Given the description of an element on the screen output the (x, y) to click on. 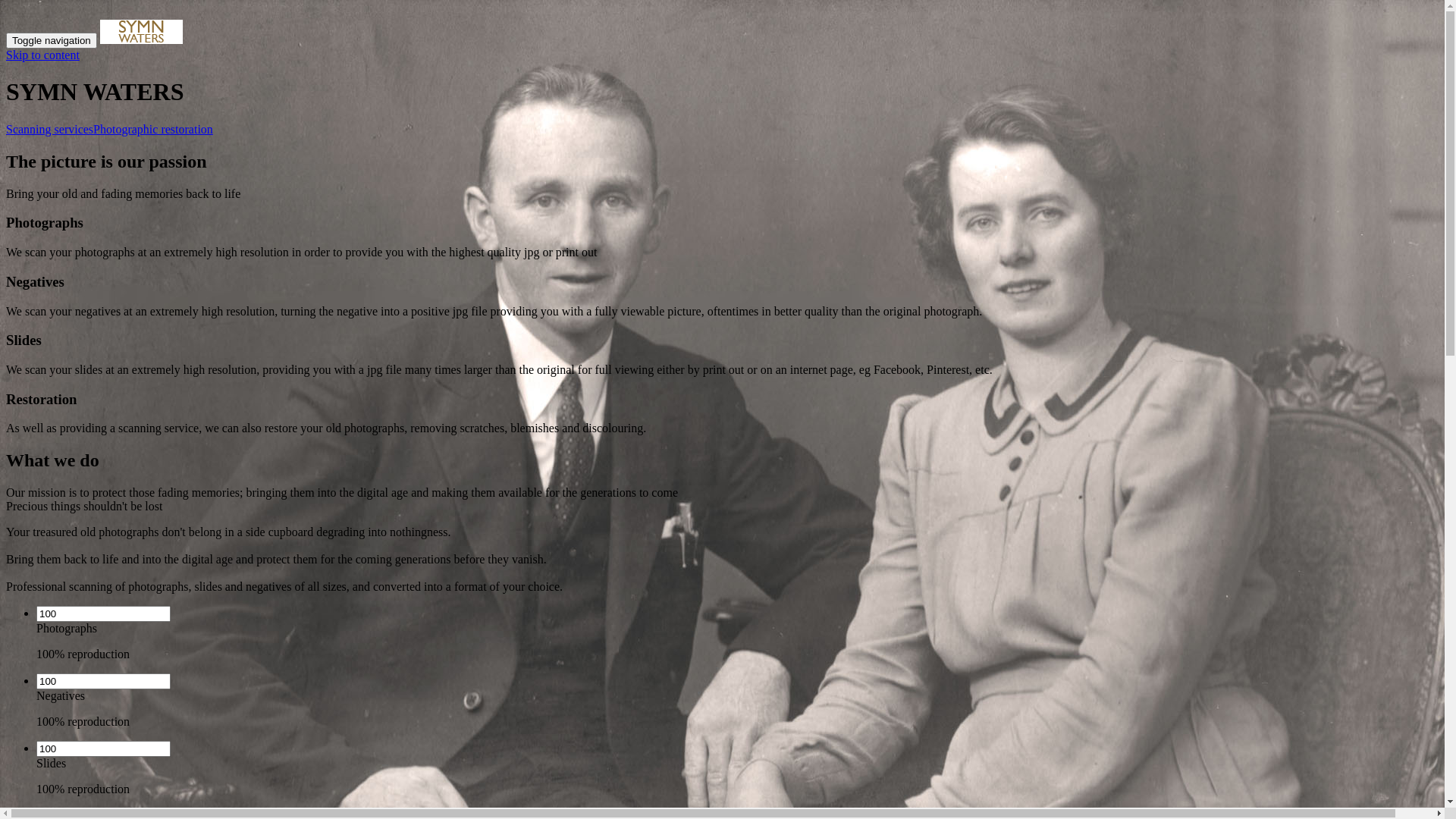
Scanning services Element type: text (49, 128)
Photographic restoration Element type: text (153, 128)
Toggle navigation Element type: text (51, 40)
Skip to content Element type: text (42, 54)
